Given the description of an element on the screen output the (x, y) to click on. 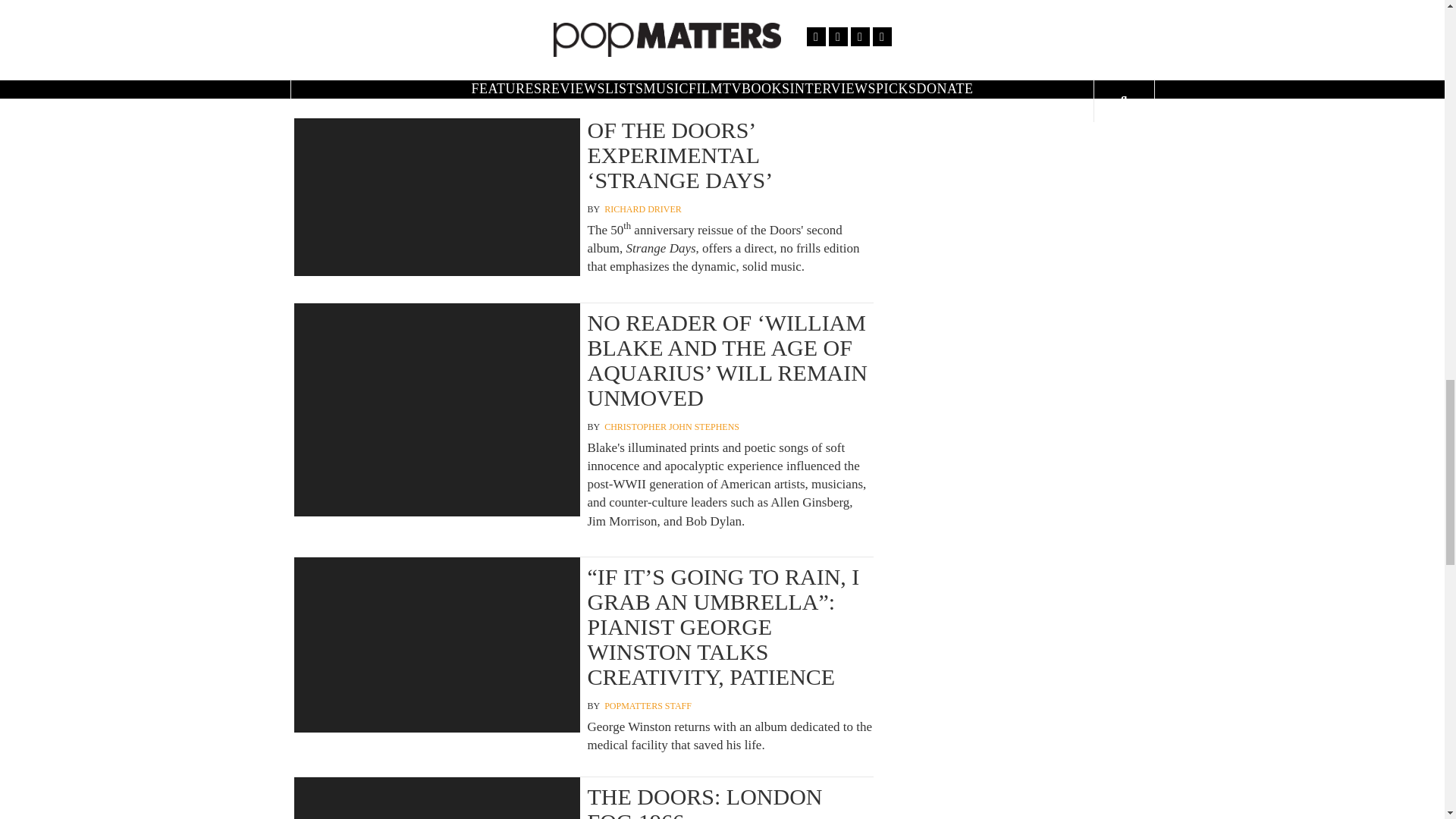
Richard Driver (642, 209)
PopMatters Staff (647, 706)
Christopher John Stephens (671, 427)
